Given the description of an element on the screen output the (x, y) to click on. 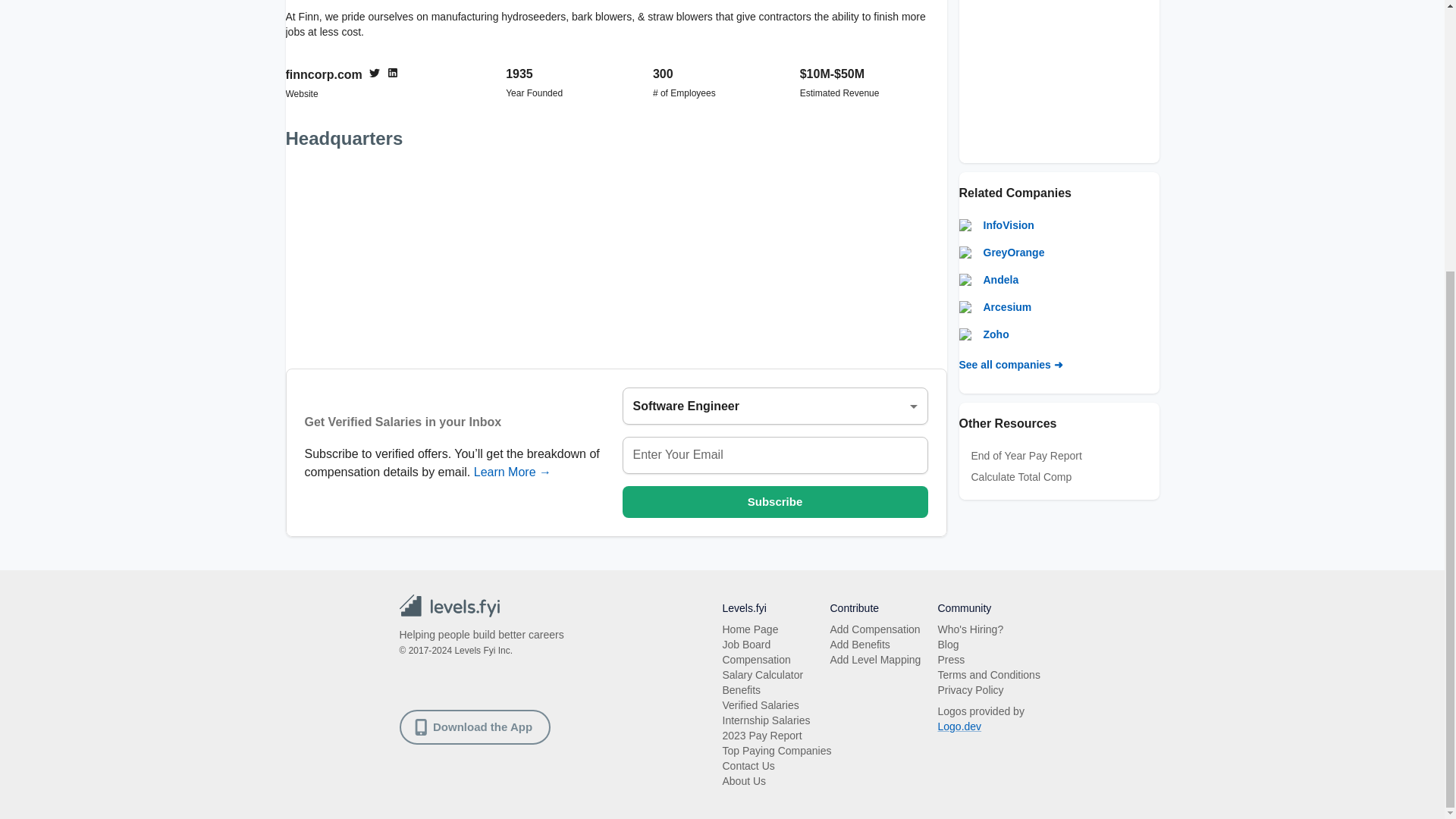
Company Address (615, 257)
